Given the description of an element on the screen output the (x, y) to click on. 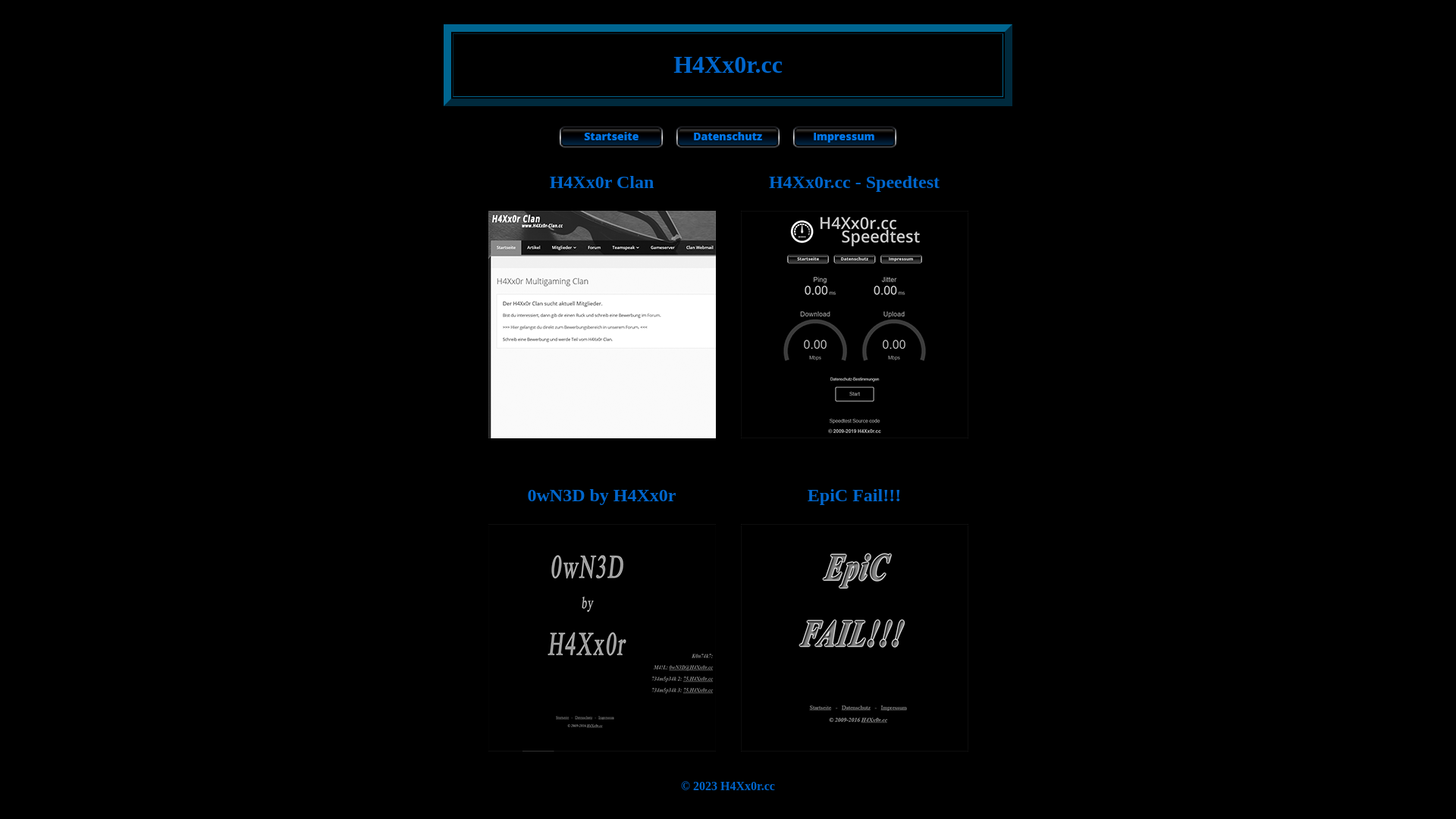
0wN3D by H4Xx0r Element type: text (601, 495)
EpiC Fail!!! Element type: text (853, 495)
H4Xx0r.cc - Speedtest Element type: text (853, 181)
H4Xx0r.cc Element type: text (727, 64)
H4Xx0r Clan Element type: text (601, 181)
H4Xx0r.cc Element type: text (747, 785)
